Given the description of an element on the screen output the (x, y) to click on. 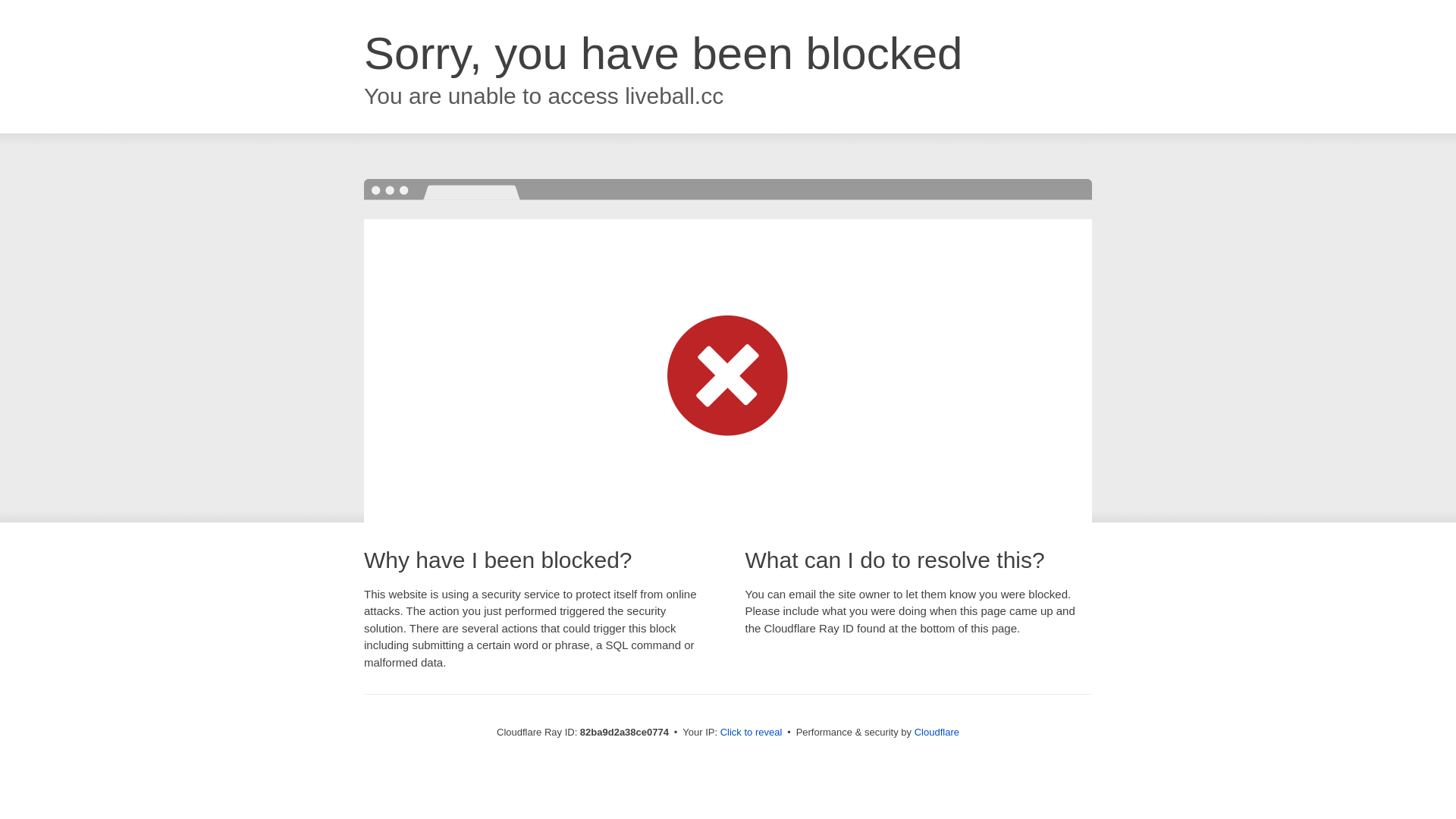
Cloudflare Element type: text (936, 731)
Click to reveal Element type: text (751, 732)
